Given the description of an element on the screen output the (x, y) to click on. 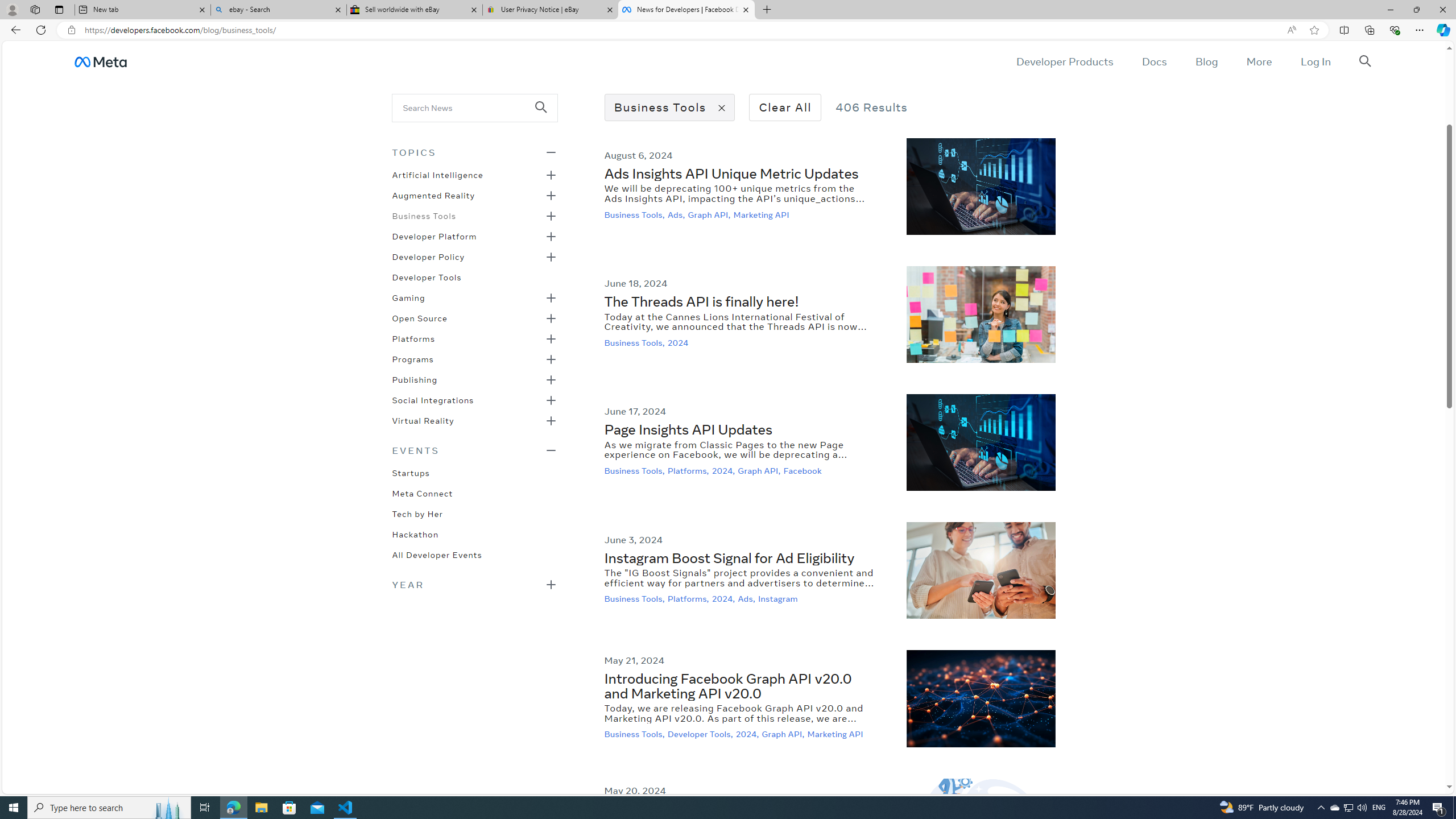
Meta Connect (421, 492)
Browser essentials (1394, 29)
View site information (70, 29)
New tab (142, 9)
News for Developers | Facebook Developers (685, 9)
Business Tools (423, 214)
Publishing (414, 378)
Address and search bar (680, 29)
Facebook (803, 470)
Back (13, 29)
Ads, (748, 598)
Collections (1369, 29)
App bar (728, 29)
